Given the description of an element on the screen output the (x, y) to click on. 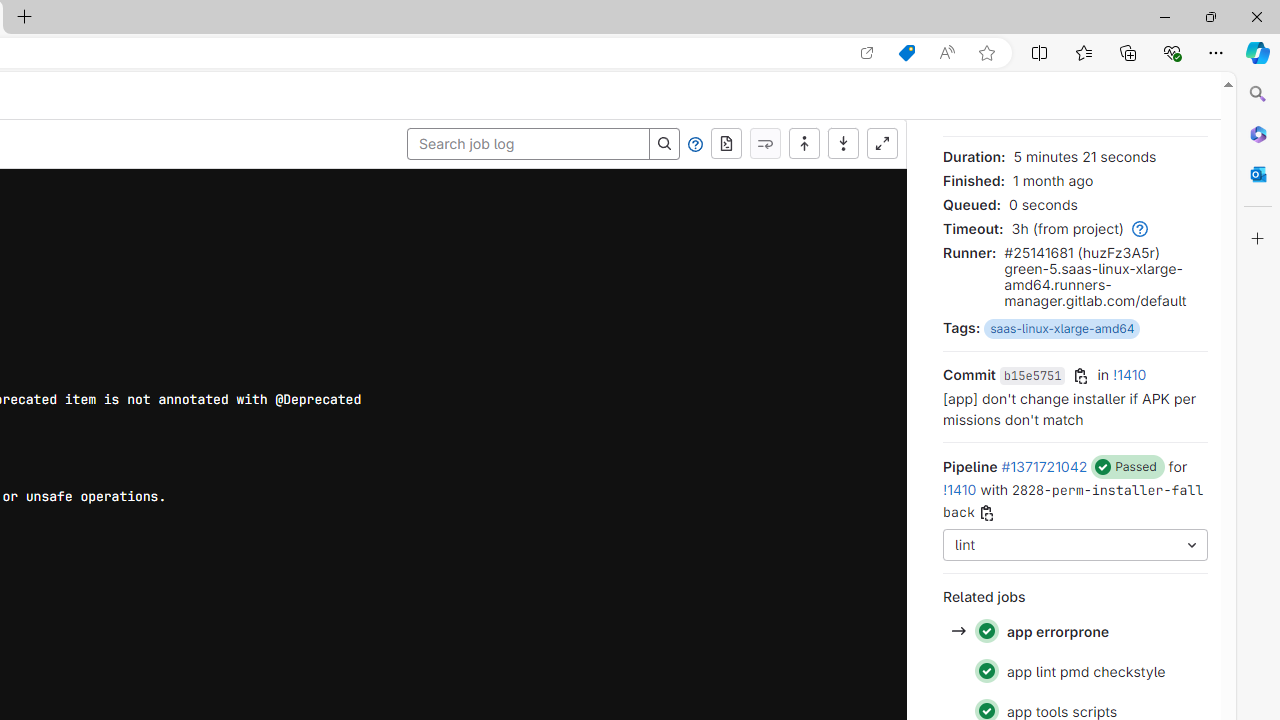
Status: Passed (986, 671)
Search job log (528, 143)
Copy commit SHA (1081, 376)
Scroll to next failure (765, 143)
Open in app (867, 53)
b15e5751 (1032, 376)
